Given the description of an element on the screen output the (x, y) to click on. 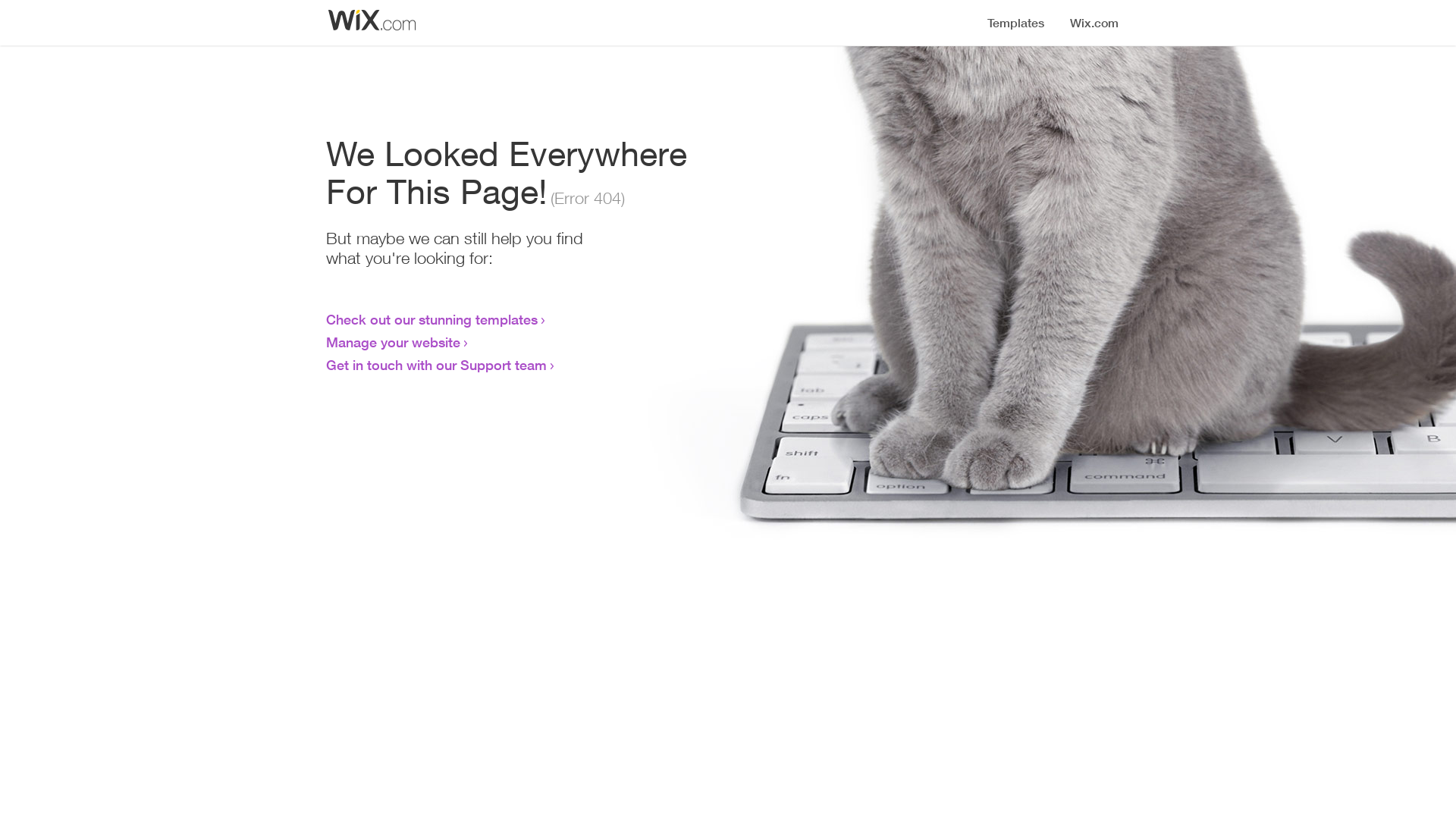
Get in touch with our Support team Element type: text (436, 364)
Check out our stunning templates Element type: text (431, 318)
Manage your website Element type: text (393, 341)
